Given the description of an element on the screen output the (x, y) to click on. 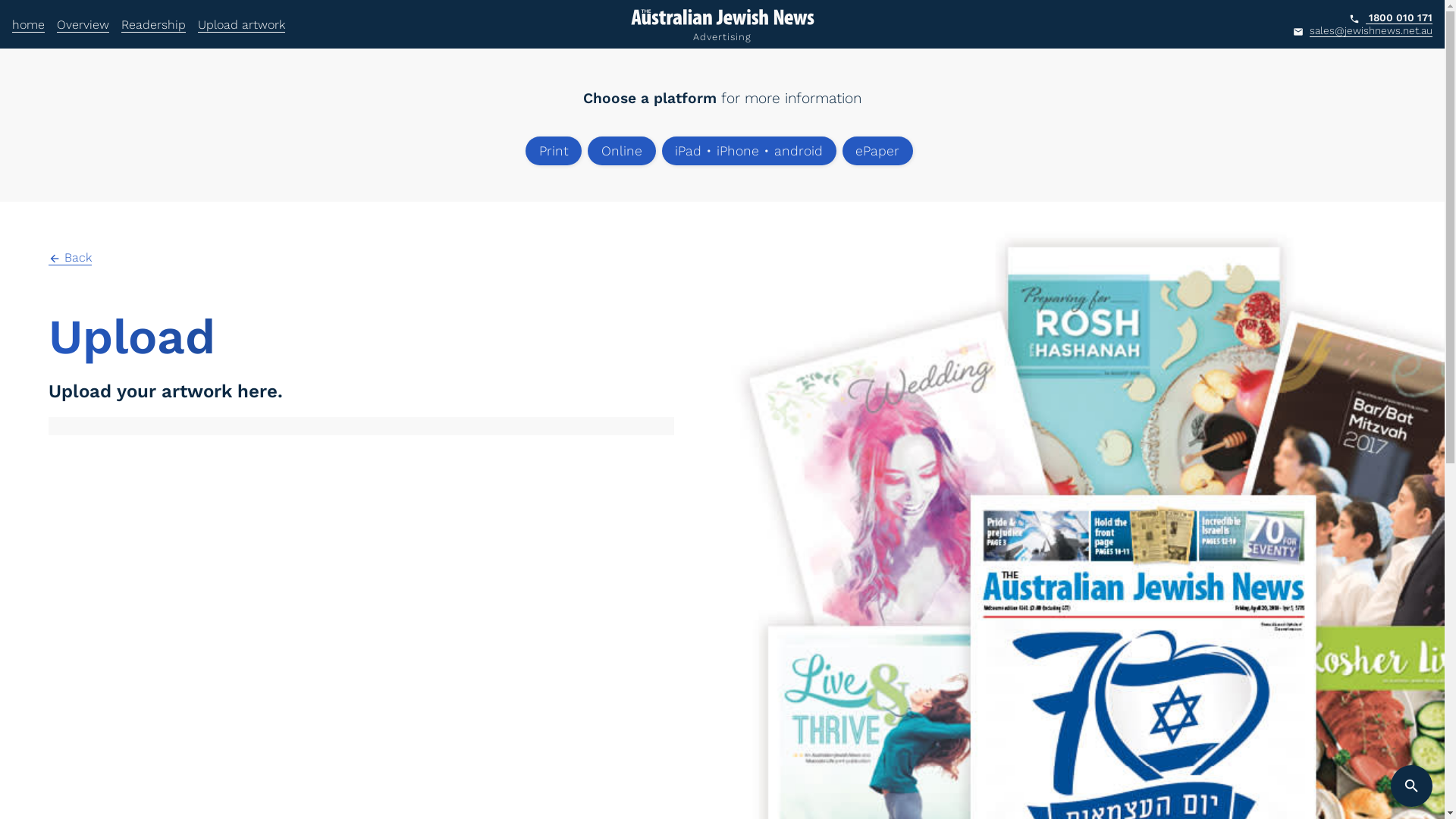
Advertising Terms & Conditions Element type: text (88, 755)
photo_library
AJN brand assets Element type: text (435, 758)
home Element type: text (28, 23)
cloud_upload
Upload artwork Element type: text (429, 673)
arrow_back Back Element type: text (69, 257)
Twitter Element type: text (781, 704)
 1800 010 171 Element type: text (1398, 17)
ePaper Element type: text (877, 151)
info
Online rates, sizes & specs Element type: text (457, 737)
crop
Print rates & sizes Element type: text (436, 694)
Instagram Element type: text (787, 732)
Print Element type: text (553, 151)
Readership Element type: text (153, 23)
Facebook Element type: text (781, 676)
print
Print specs Element type: text (420, 715)
jewishnews.net.au Element type: hover (103, 677)
picture_as_pdf
Media kit PDF Element type: text (426, 779)
Online Element type: text (621, 151)
search Element type: text (1411, 785)
sales@jewishnews.net.au Element type: text (1370, 30)
Overview Element type: text (82, 23)
Upload artwork Element type: text (241, 23)
email
sales@jewishnews.net.au Element type: text (93, 723)
html5 ePaper Element type: text (1159, 757)
phone
1800 010 171 Element type: text (60, 702)
